Given the description of an element on the screen output the (x, y) to click on. 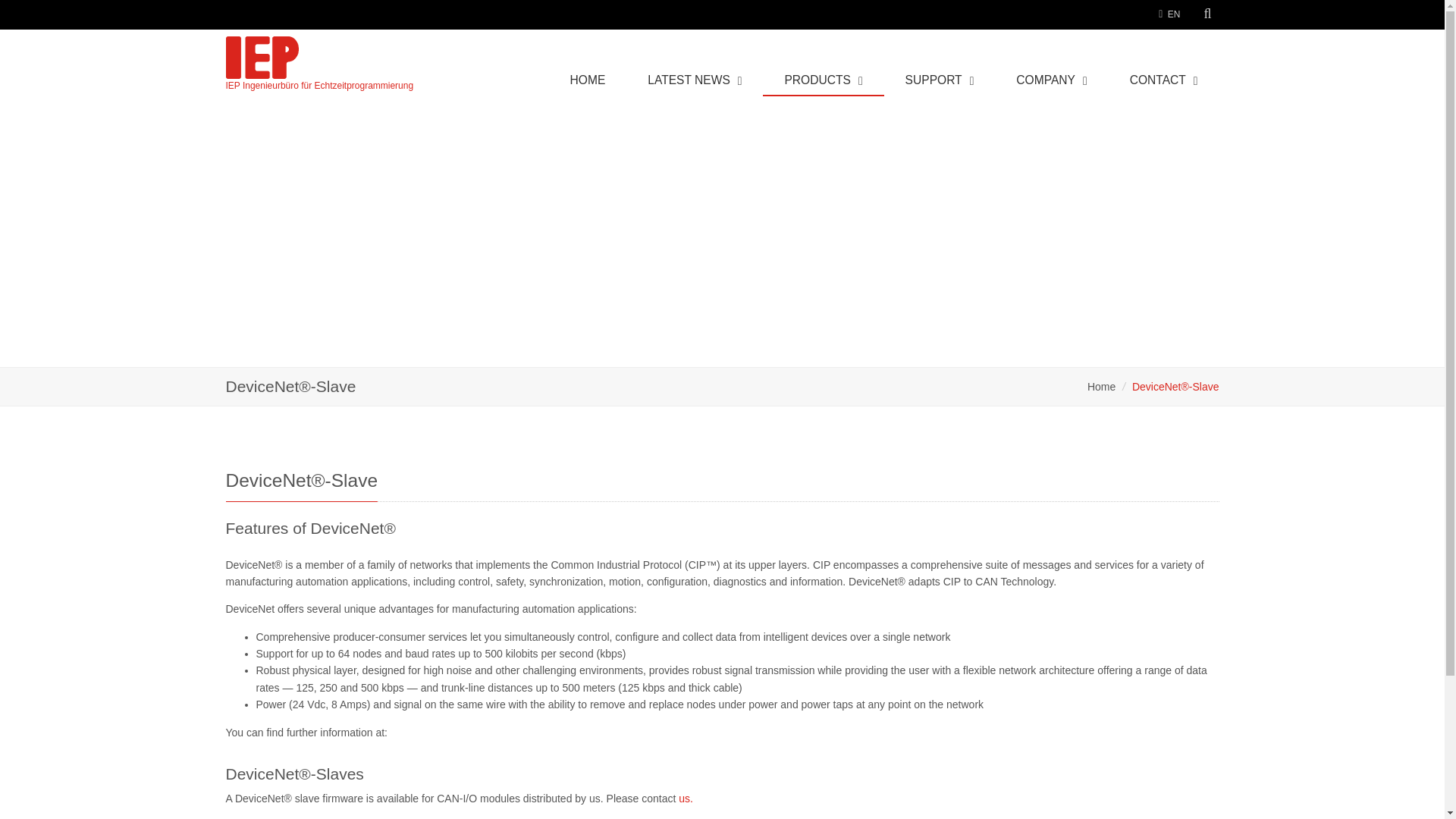
EN (1173, 14)
LATEST NEWS (694, 82)
PRODUCTS (822, 82)
HOME (587, 82)
